Given the description of an element on the screen output the (x, y) to click on. 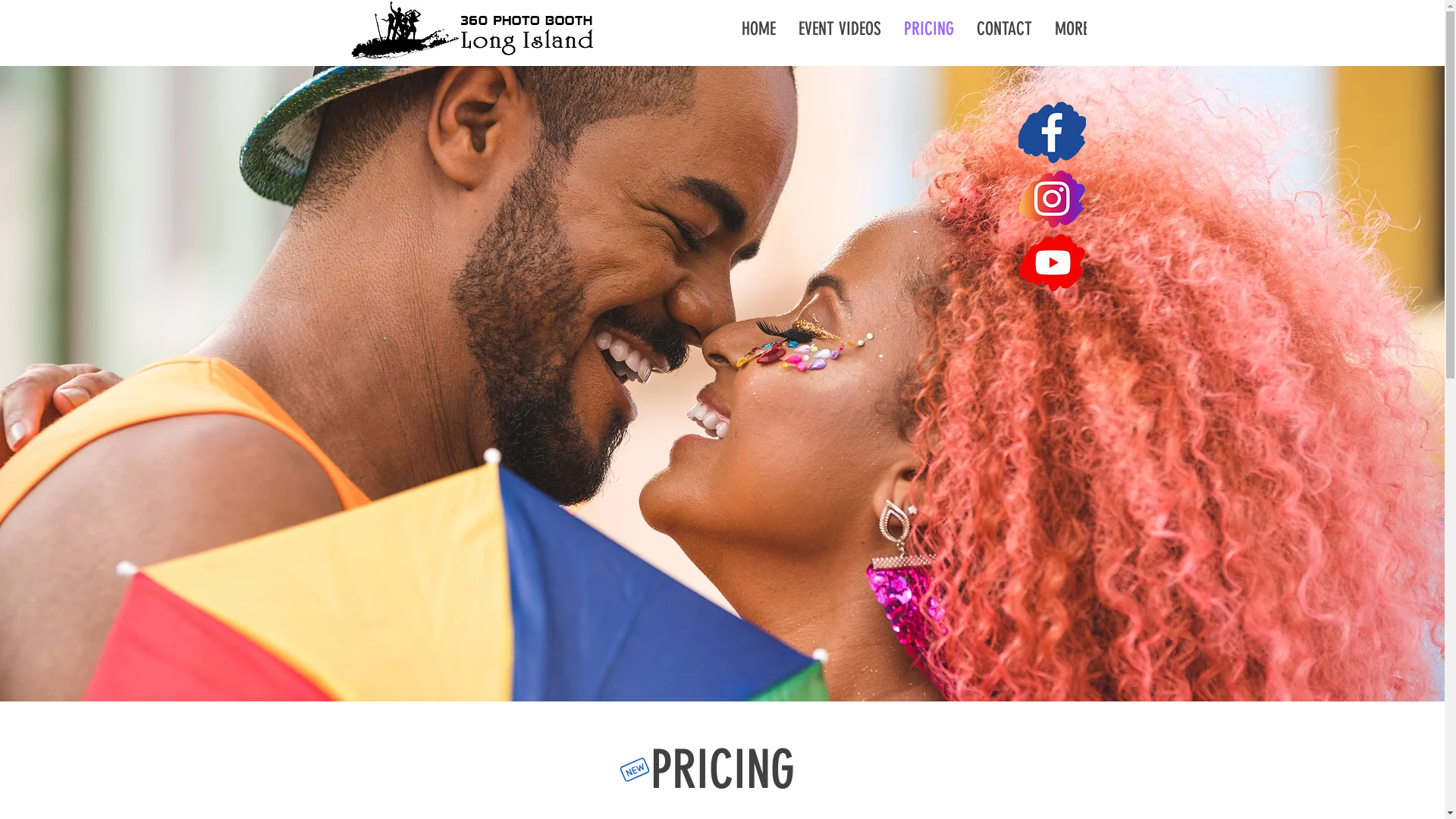
PRICING Element type: text (927, 35)
CONTACT Element type: text (1003, 35)
HOME Element type: text (757, 35)
EVENT VIDEOS Element type: text (839, 35)
